Given the description of an element on the screen output the (x, y) to click on. 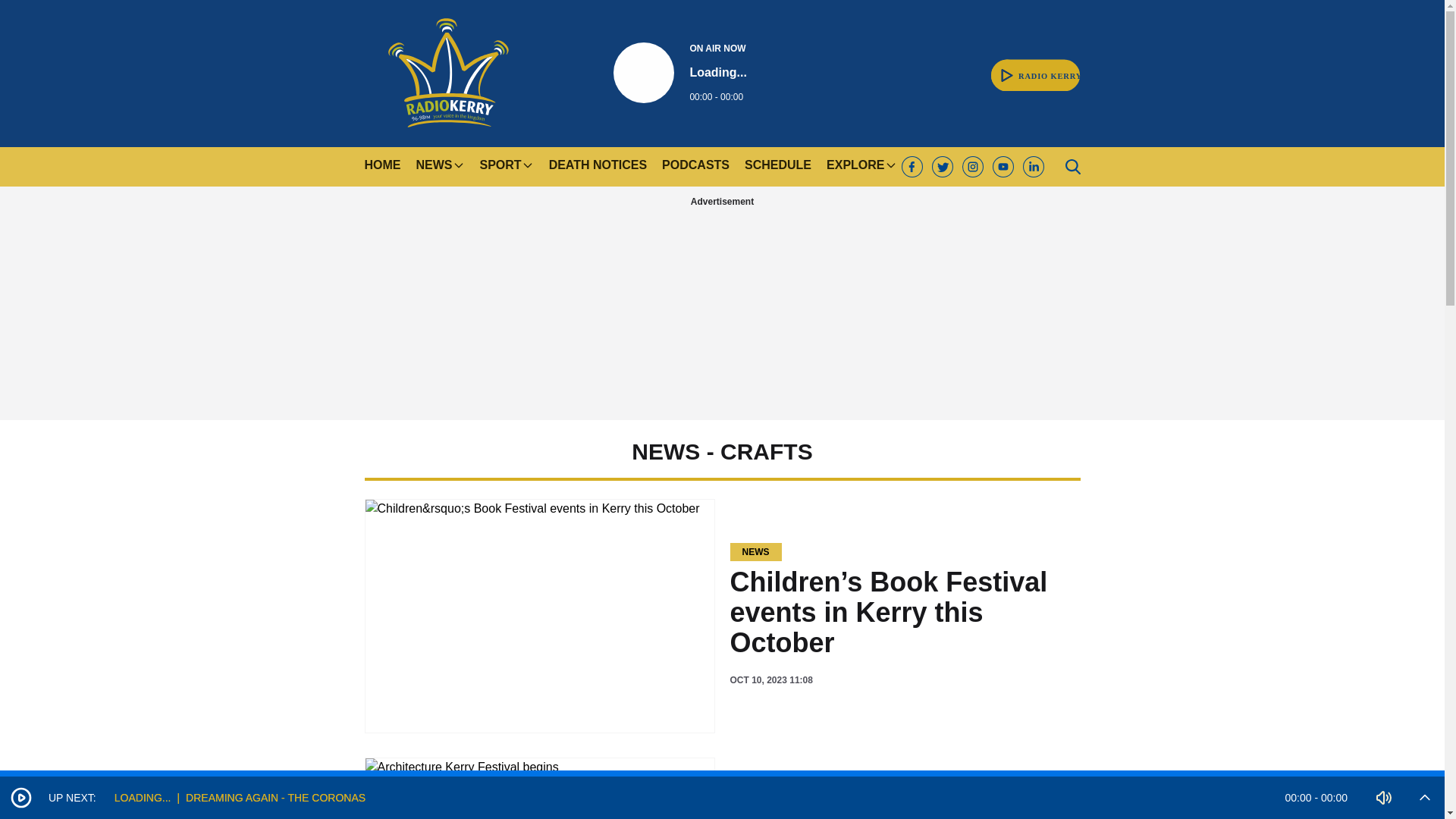
RadioKerry.ie (679, 72)
RADIO KERRY (447, 72)
DEATH NOTICES (1035, 66)
PODCASTS (597, 166)
RADIO KERRY (695, 166)
HOME (1035, 66)
SCHEDULE (382, 166)
